Given the description of an element on the screen output the (x, y) to click on. 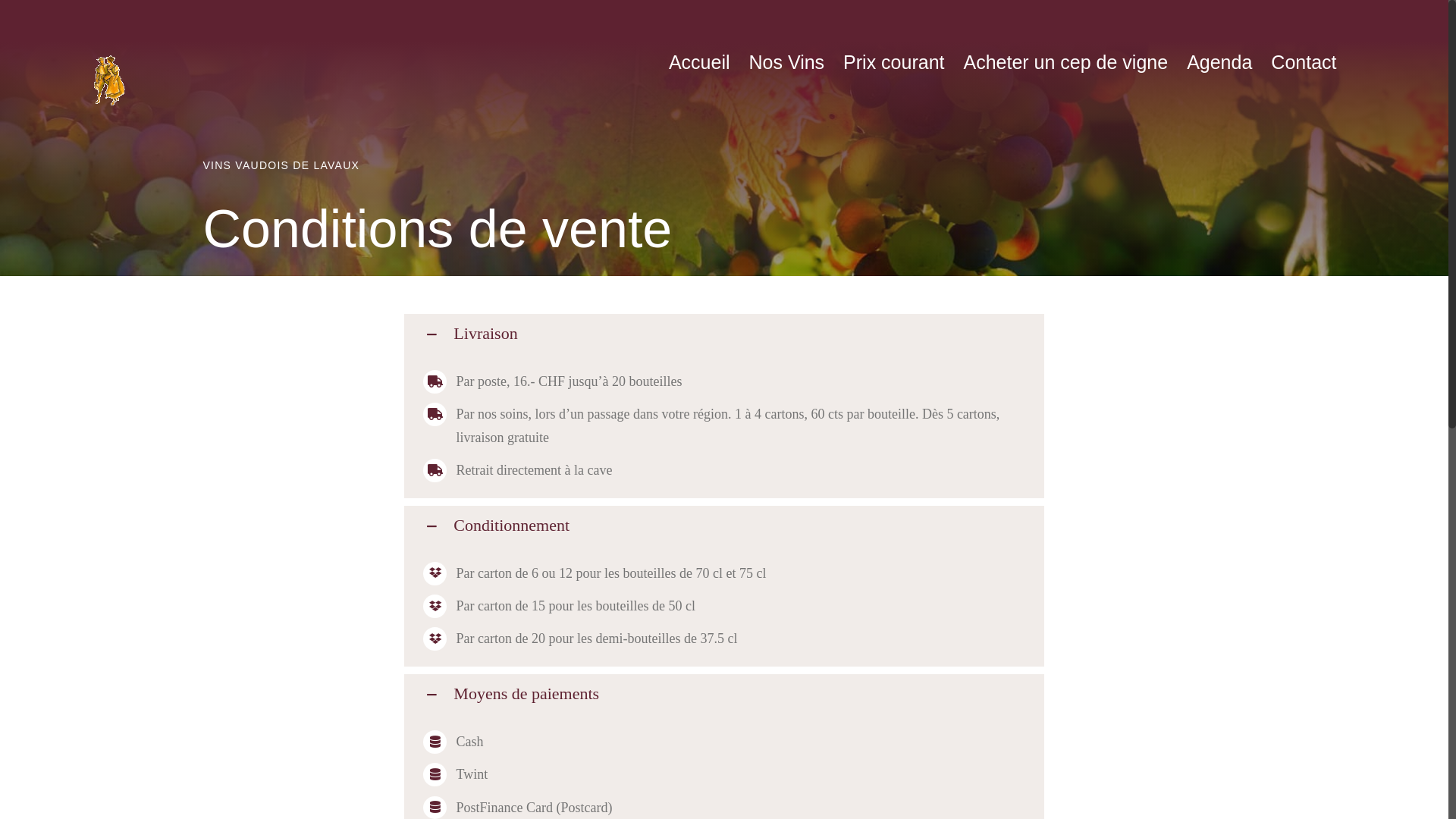
Conditionnement Element type: text (723, 525)
Acheter un cep de vigne Element type: text (1065, 62)
Agenda Element type: text (1219, 62)
Contact Element type: text (1303, 62)
Nos Vins Element type: text (787, 62)
Prix courant Element type: text (893, 62)
Accueil Element type: text (699, 62)
Livraison Element type: text (723, 333)
Moyens de paiements Element type: text (723, 694)
